Given the description of an element on the screen output the (x, y) to click on. 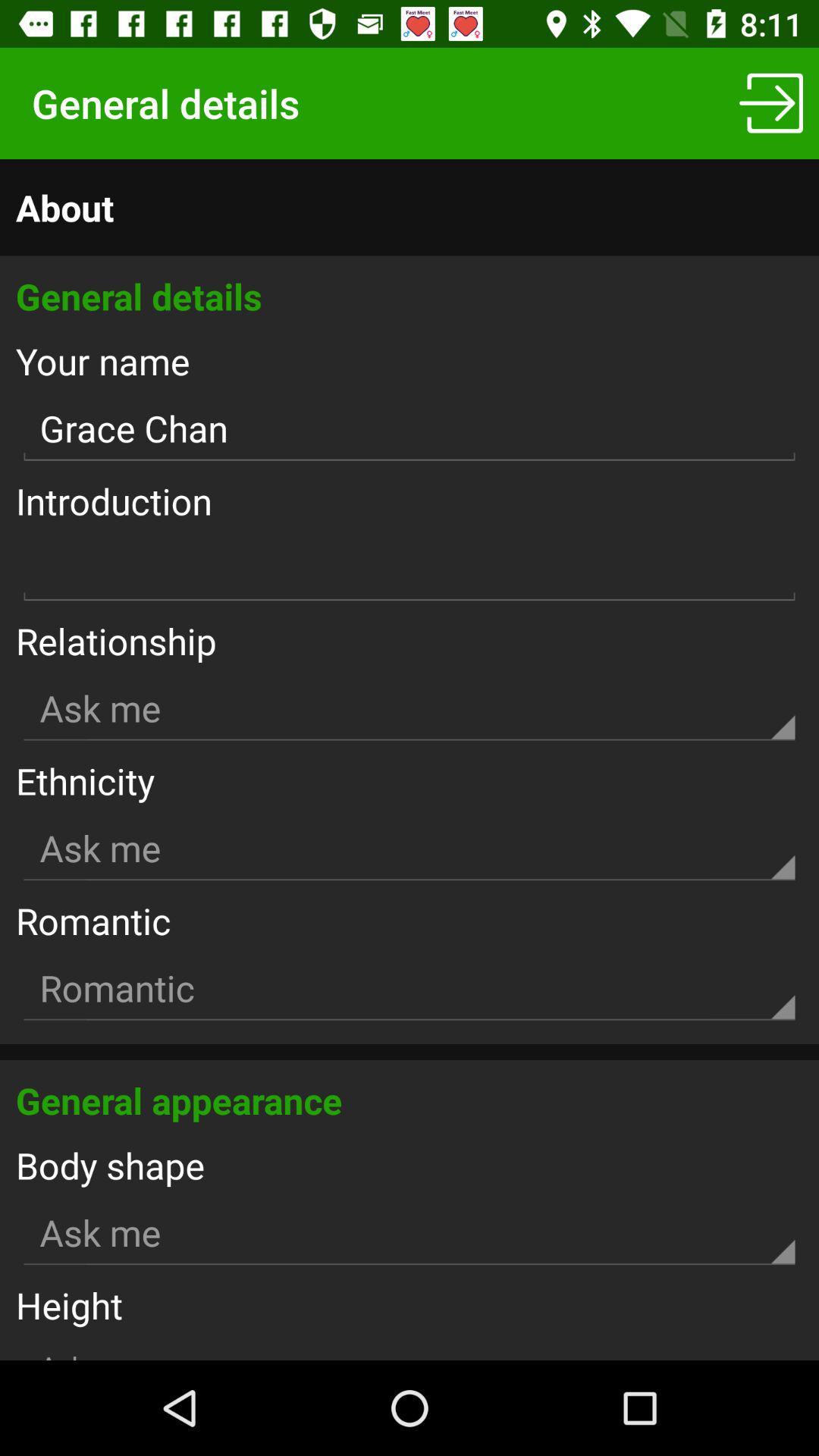
text writing box (409, 568)
